Given the description of an element on the screen output the (x, y) to click on. 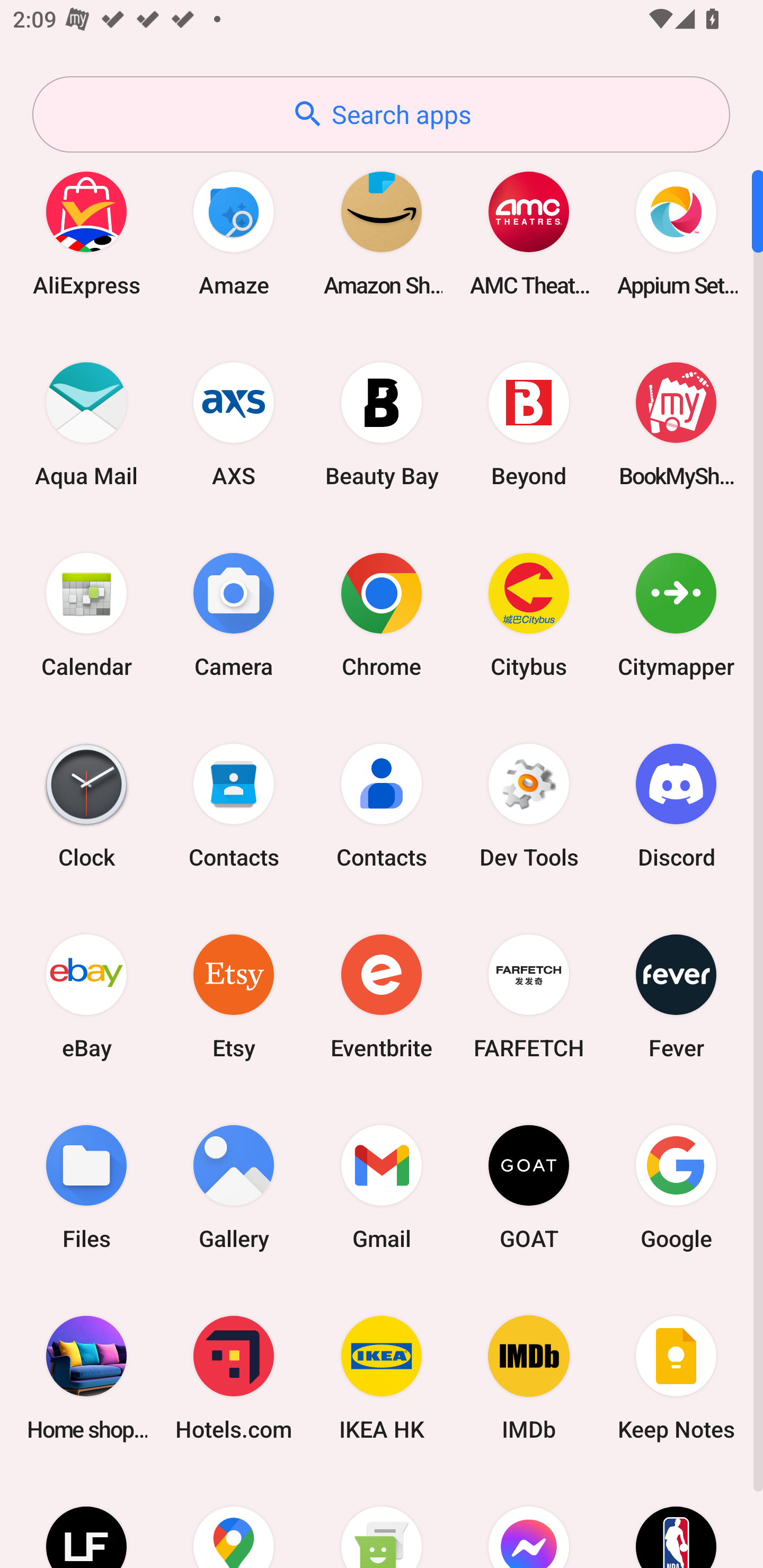
Citymapper (676, 614)
